Given the description of an element on the screen output the (x, y) to click on. 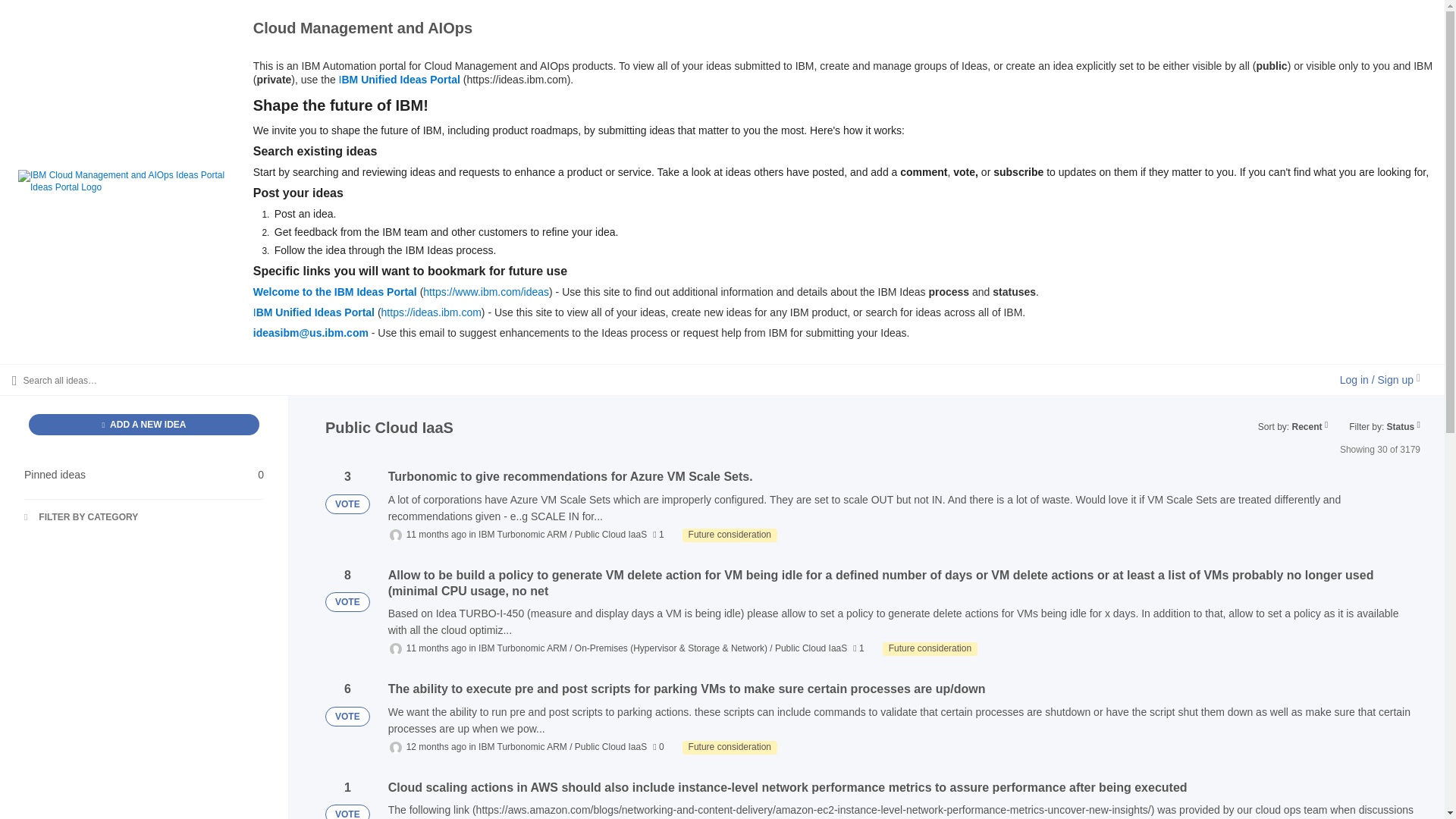
IBM Unified Ideas Portal (313, 312)
Welcome to the IBM Ideas Portal (334, 291)
IBM Unified Ideas Portal (399, 79)
Future consideration (929, 649)
Future consideration (729, 747)
FILTER BY CATEGORY (143, 474)
Future consideration (81, 517)
ADD A NEW IDEA (729, 535)
